Given the description of an element on the screen output the (x, y) to click on. 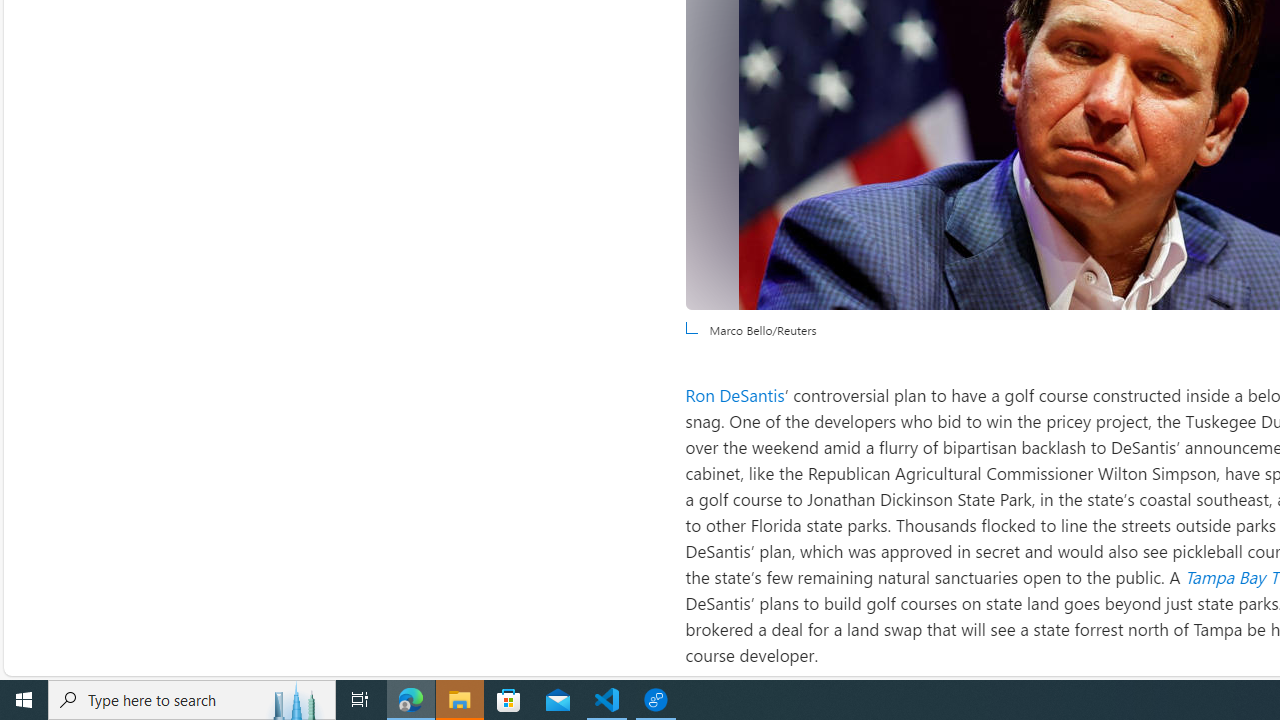
Ron DeSantis (734, 394)
